Given the description of an element on the screen output the (x, y) to click on. 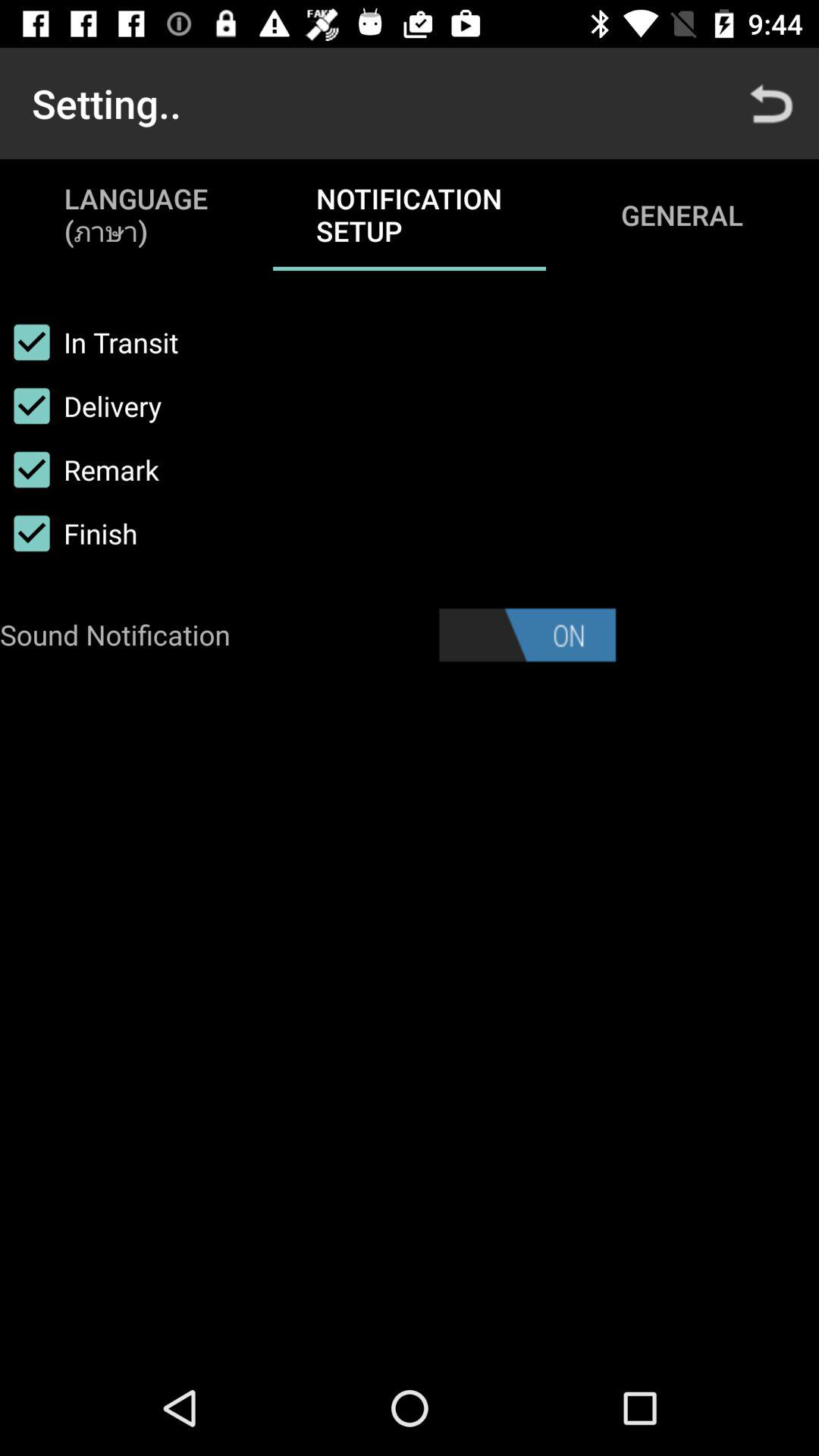
select the icon below the notification
setup icon (527, 634)
